Given the description of an element on the screen output the (x, y) to click on. 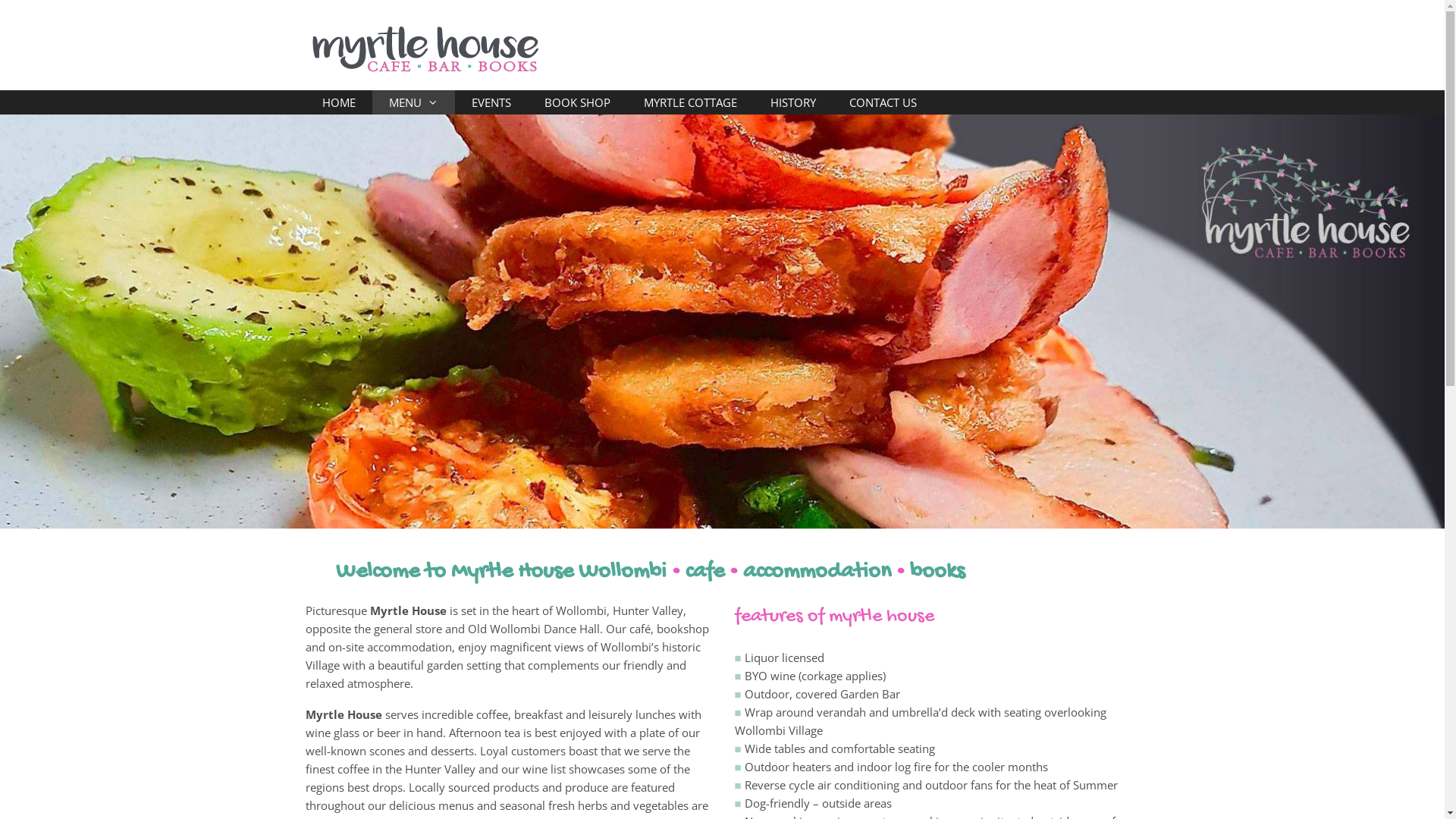
HOME Element type: text (337, 102)
Myrtle House Element type: hover (425, 48)
Skip to content Element type: text (0, 0)
breakfast Element type: text (538, 713)
Myrtle House Element type: hover (425, 49)
lunches Element type: text (655, 713)
MENU Element type: text (412, 102)
HISTORY Element type: text (792, 102)
wine glass or beer Element type: text (351, 732)
CONTACT US Element type: text (882, 102)
coffee Element type: text (352, 768)
BOOK SHOP Element type: text (577, 102)
EVENTS Element type: text (491, 102)
MYRTLE COTTAGE Element type: text (689, 102)
